Given the description of an element on the screen output the (x, y) to click on. 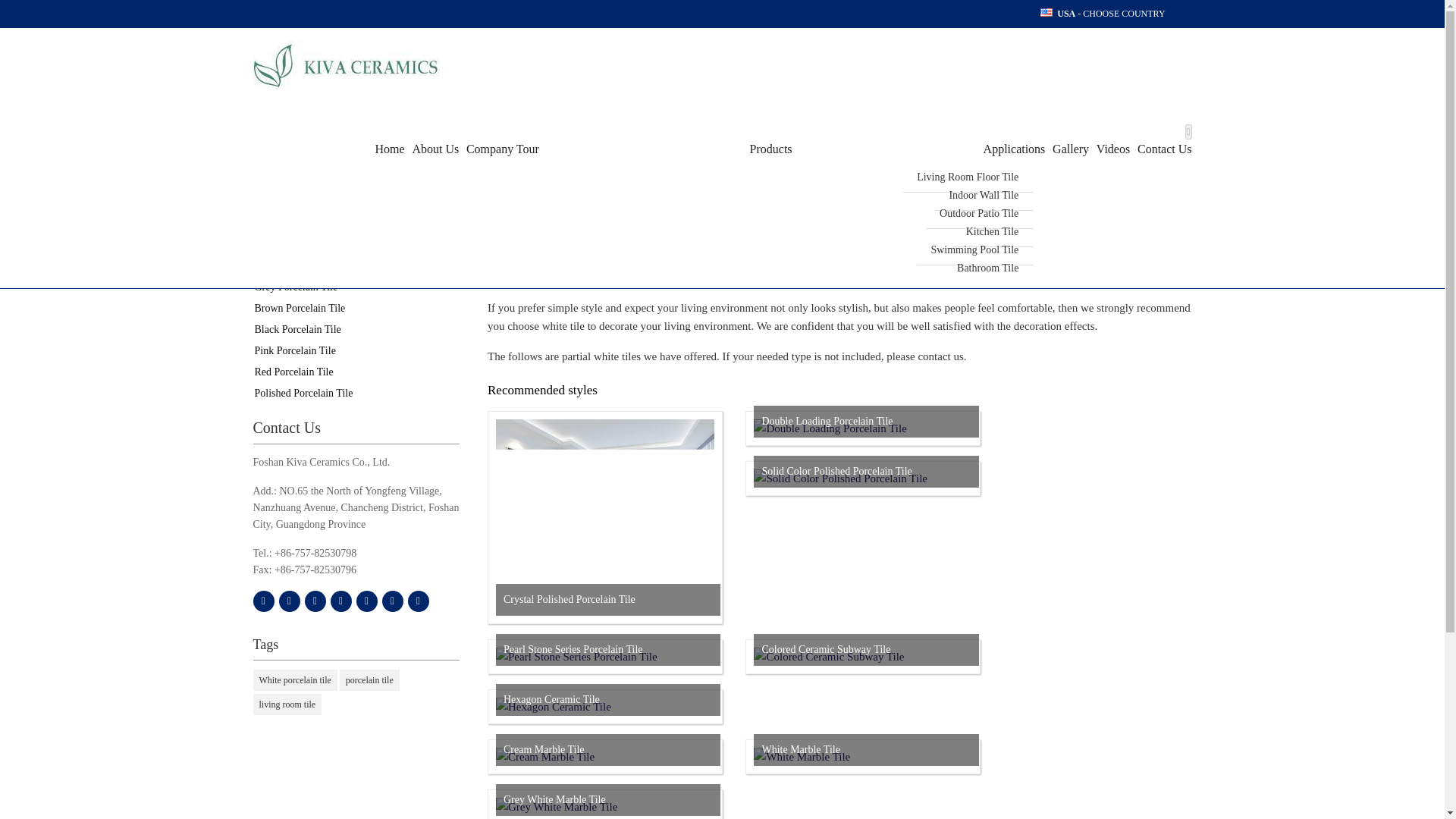
Home (387, 149)
Solid Color Polished Porcelain Tile (840, 478)
Double Loading Porcelain Tile (829, 428)
Applications (919, 149)
Brown Porcelain Tile (356, 308)
Living Room Floor Tile (967, 177)
Print This Page (392, 600)
White Marble Tile (802, 756)
White Porcelain Tile (356, 244)
Crystal Polished Porcelain Tile (605, 606)
